Given the description of an element on the screen output the (x, y) to click on. 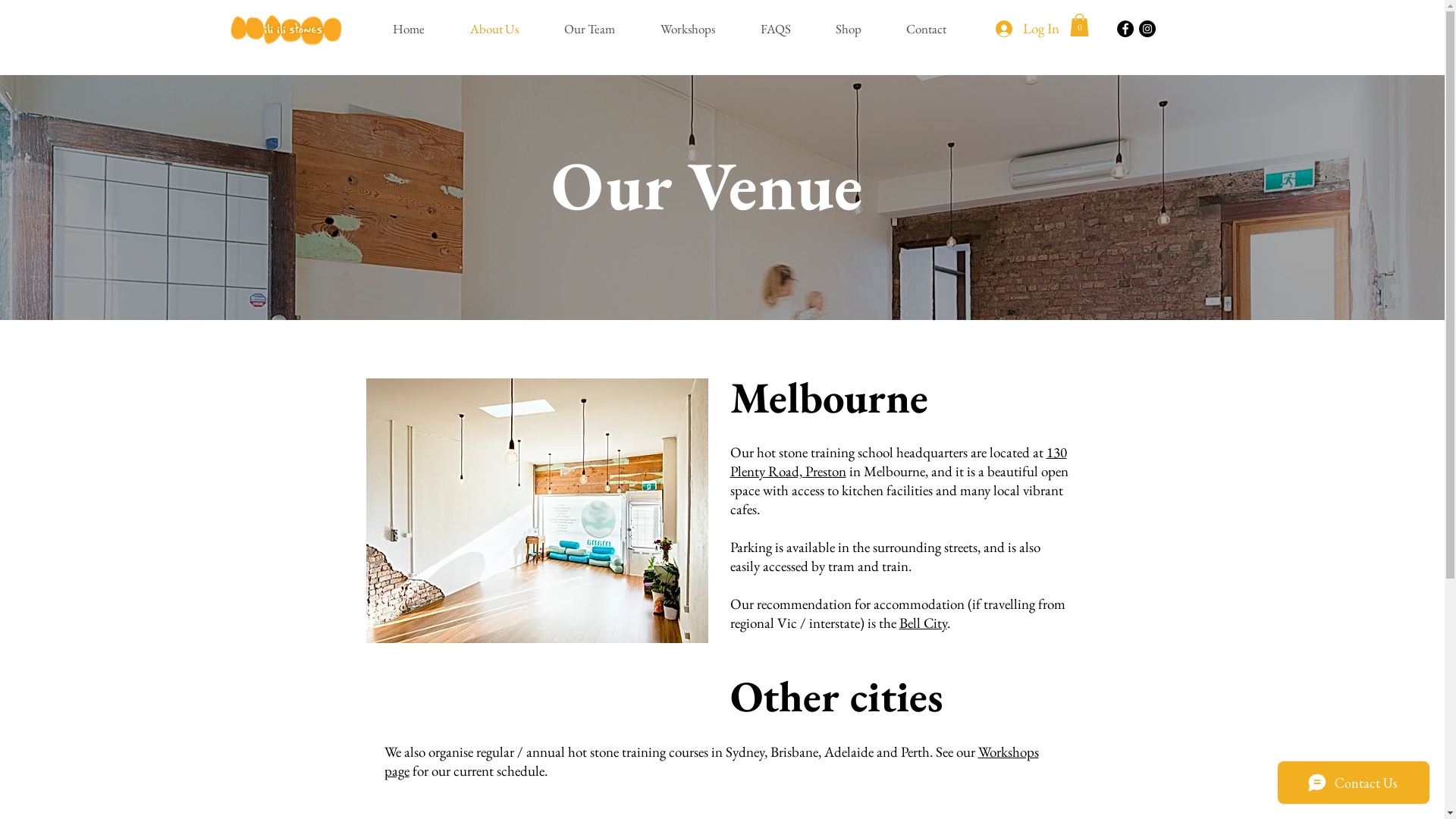
About Us Element type: text (505, 28)
Workshops page Element type: text (710, 761)
Bell City Element type: text (923, 622)
Workshops Element type: text (699, 28)
Our Team Element type: text (600, 28)
Home Element type: text (419, 28)
FAQS Element type: text (786, 28)
130 Plenty Road, Preston Element type: text (897, 461)
0 Element type: text (1078, 24)
Log In Element type: text (1026, 28)
Shop Element type: text (858, 28)
Contact Element type: text (936, 28)
